Given the description of an element on the screen output the (x, y) to click on. 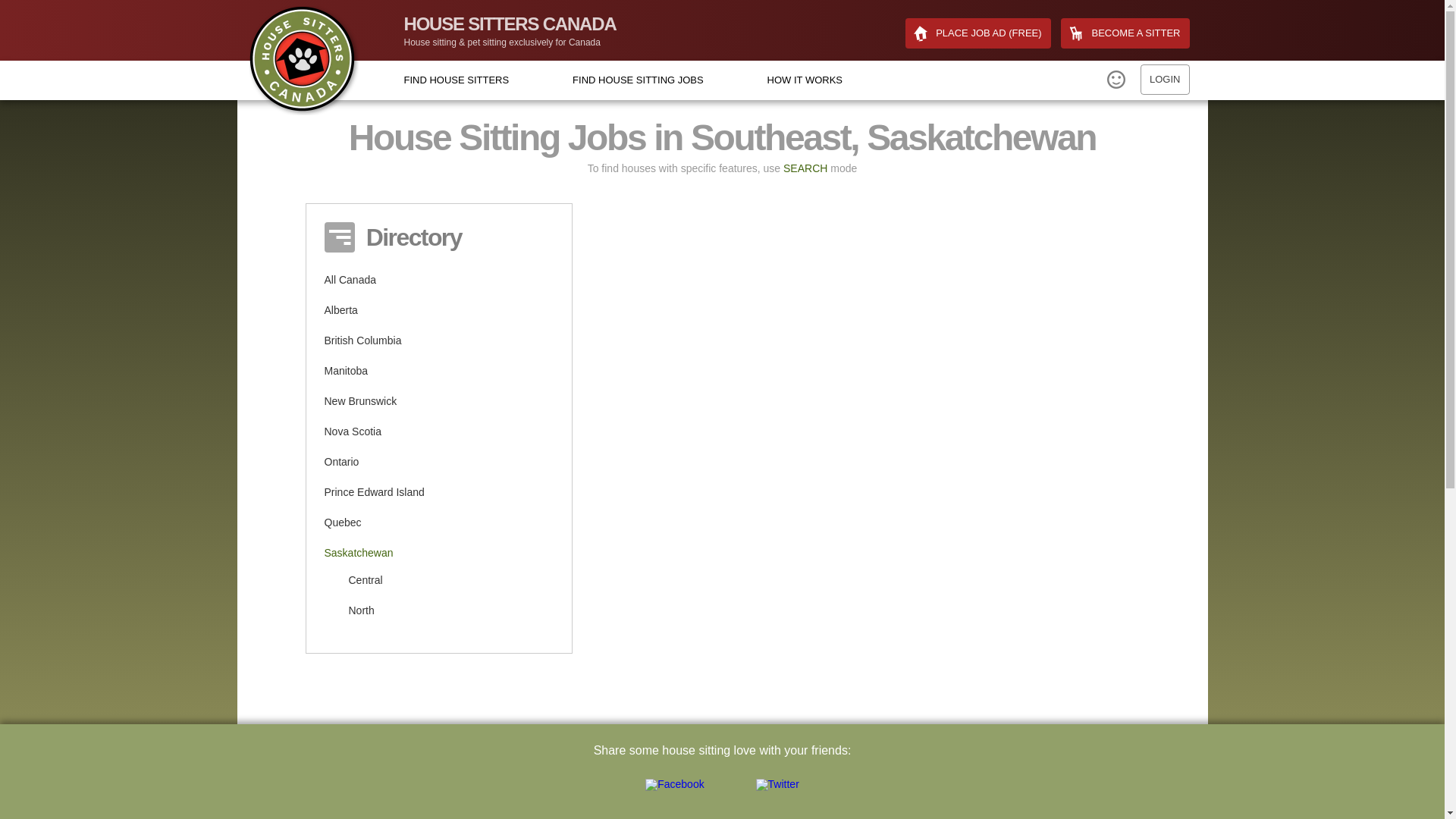
All Canada (350, 280)
FIND HOUSE SITTERS (455, 79)
HOW IT WORKS (805, 79)
FIND HOUSE SITTING JOBS (637, 79)
BECOME A SITTER (1125, 33)
LOGIN (1164, 79)
SEARCH (805, 168)
Alberta (341, 310)
